Given the description of an element on the screen output the (x, y) to click on. 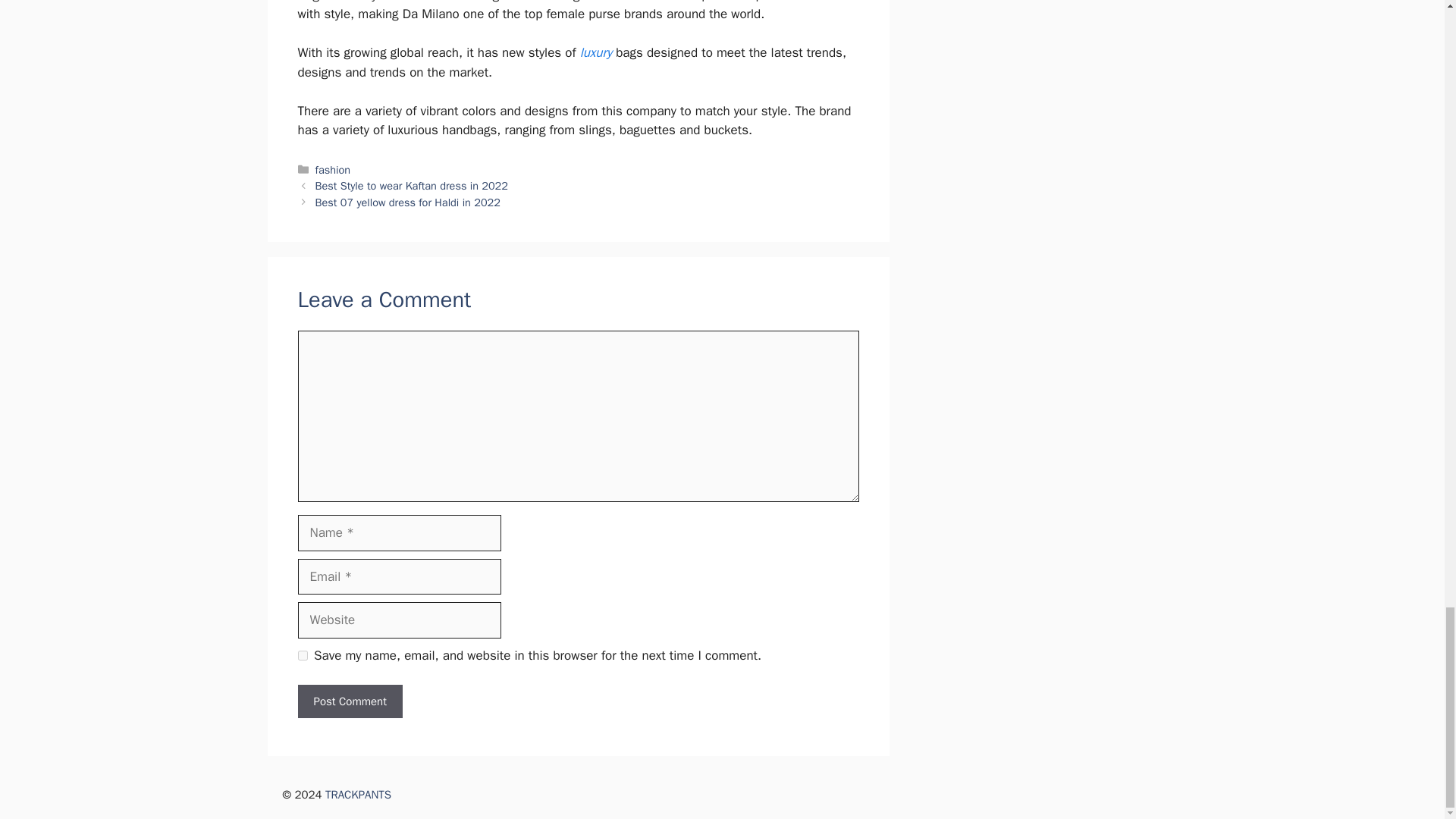
fashion (332, 169)
Post Comment (349, 701)
TRACKPANTS (357, 794)
Post Comment (349, 701)
Best Style to wear Kaftan dress in 2022 (411, 185)
luxury (595, 52)
Best 07 yellow dress for Haldi in 2022 (407, 202)
yes (302, 655)
